Given the description of an element on the screen output the (x, y) to click on. 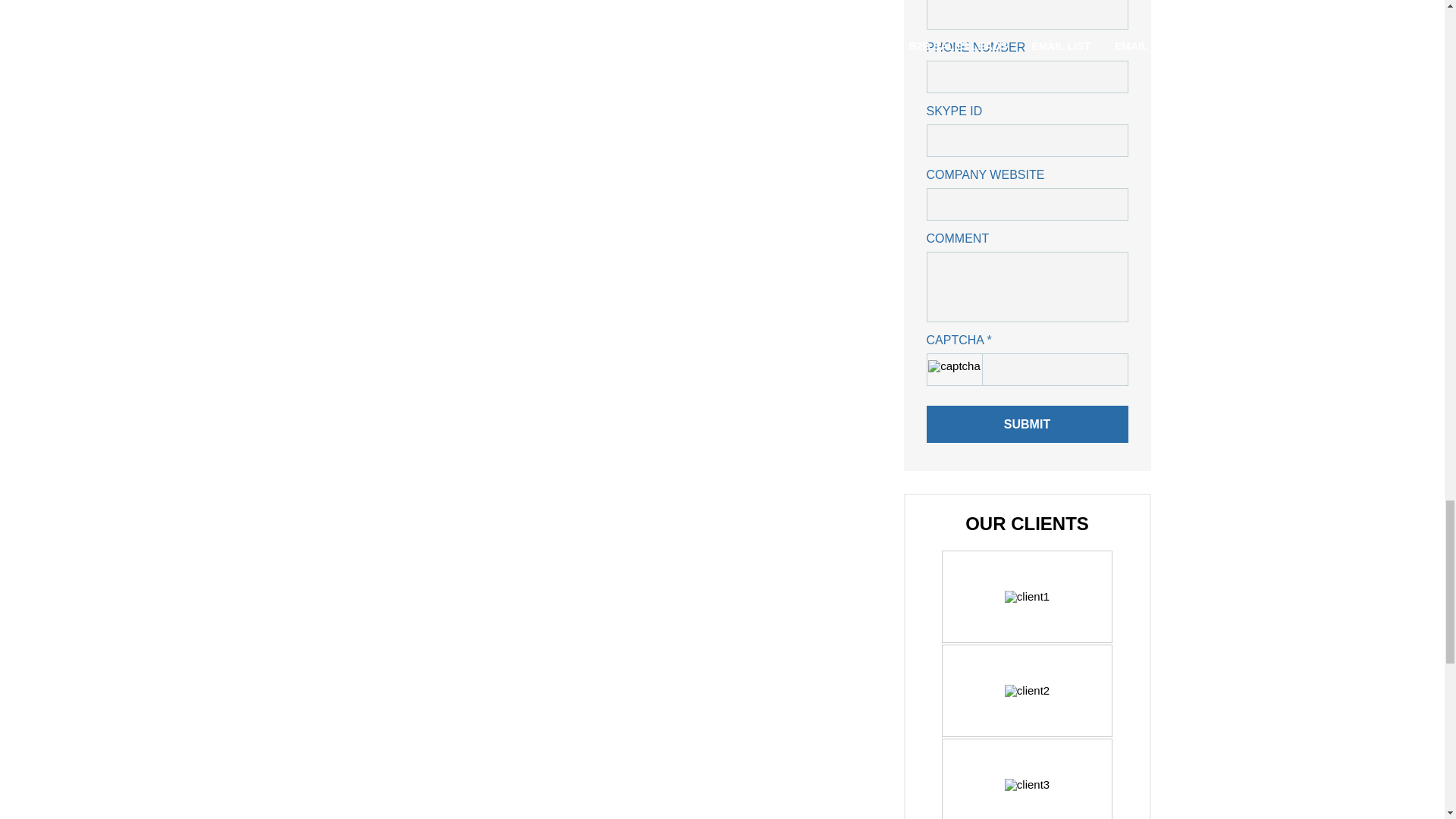
client1 (1026, 596)
client3 (1026, 784)
client2 (1026, 690)
Submit (1027, 424)
